Given the description of an element on the screen output the (x, y) to click on. 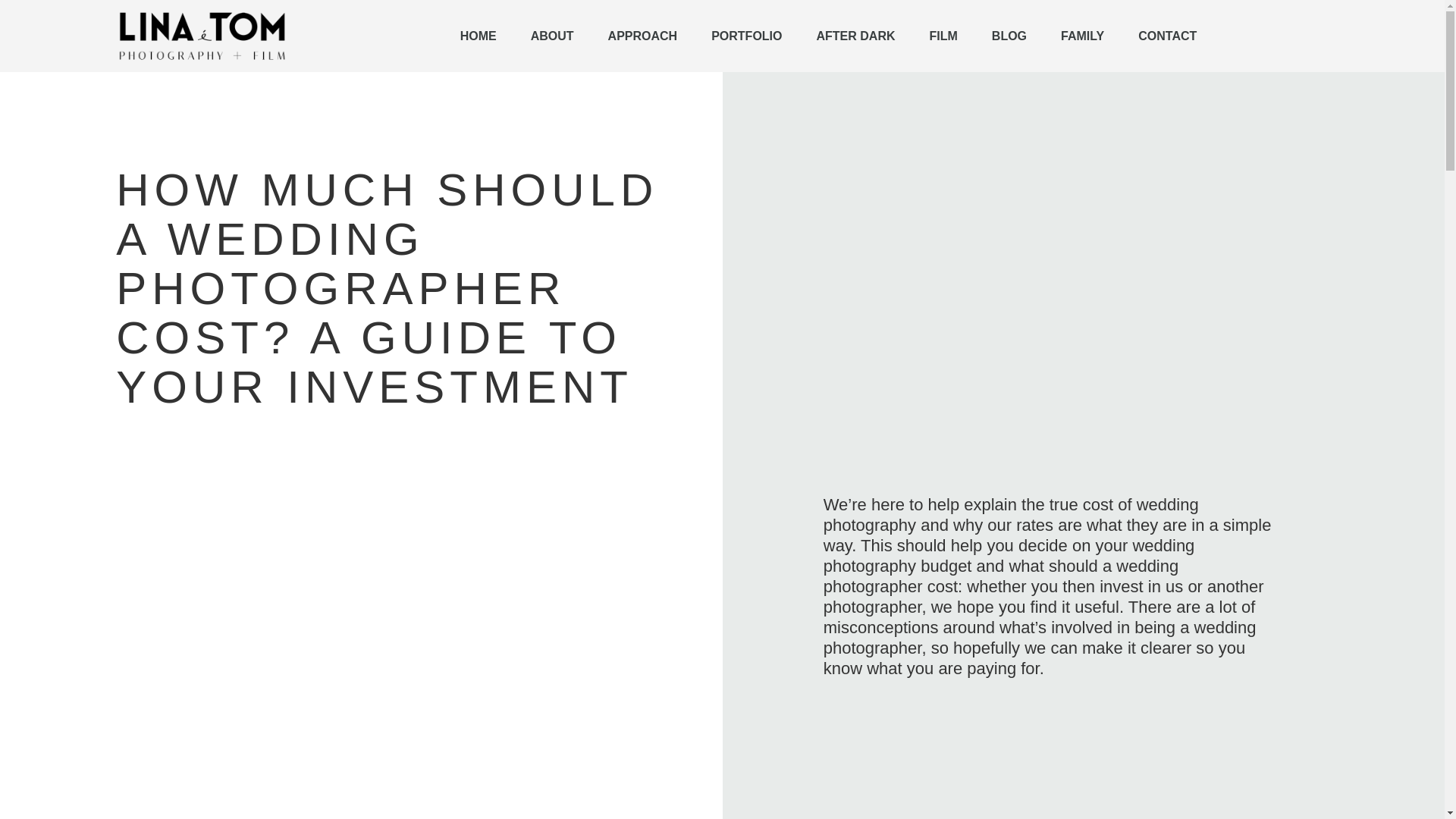
BLOG (1009, 35)
FAMILY (1082, 35)
AFTER DARK (855, 35)
PORTFOLIO (745, 35)
CONTACT (1166, 35)
APPROACH (642, 35)
ABOUT (552, 35)
HOME (478, 35)
FILM (943, 35)
